Given the description of an element on the screen output the (x, y) to click on. 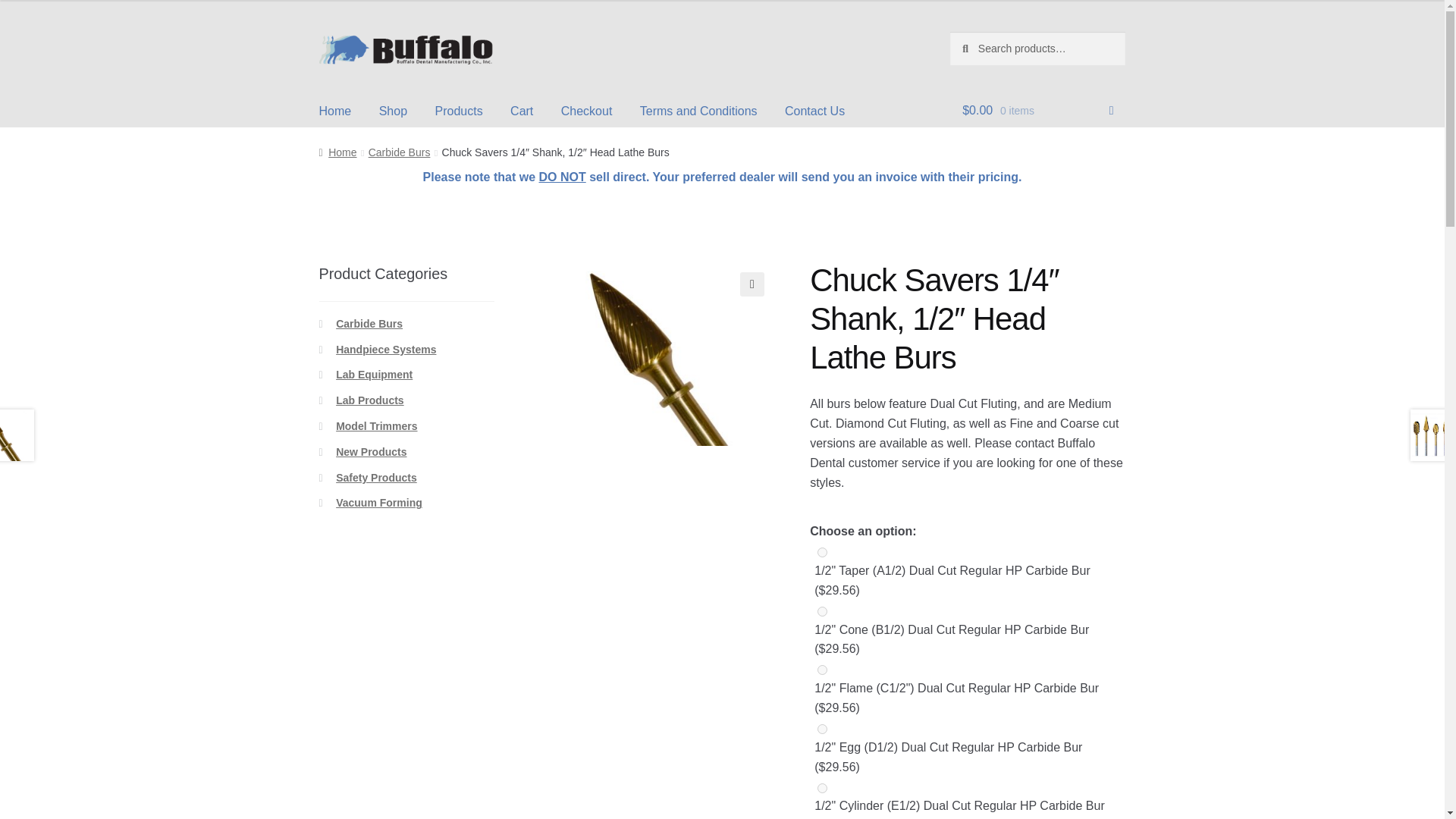
Terms and Conditions (698, 111)
View your shopping cart (1037, 113)
Products (458, 111)
Contact Us (815, 111)
Shop (392, 111)
Checkout (586, 111)
Home (337, 152)
Cart (520, 111)
Home (335, 111)
Carbide Burs (399, 152)
